Given the description of an element on the screen output the (x, y) to click on. 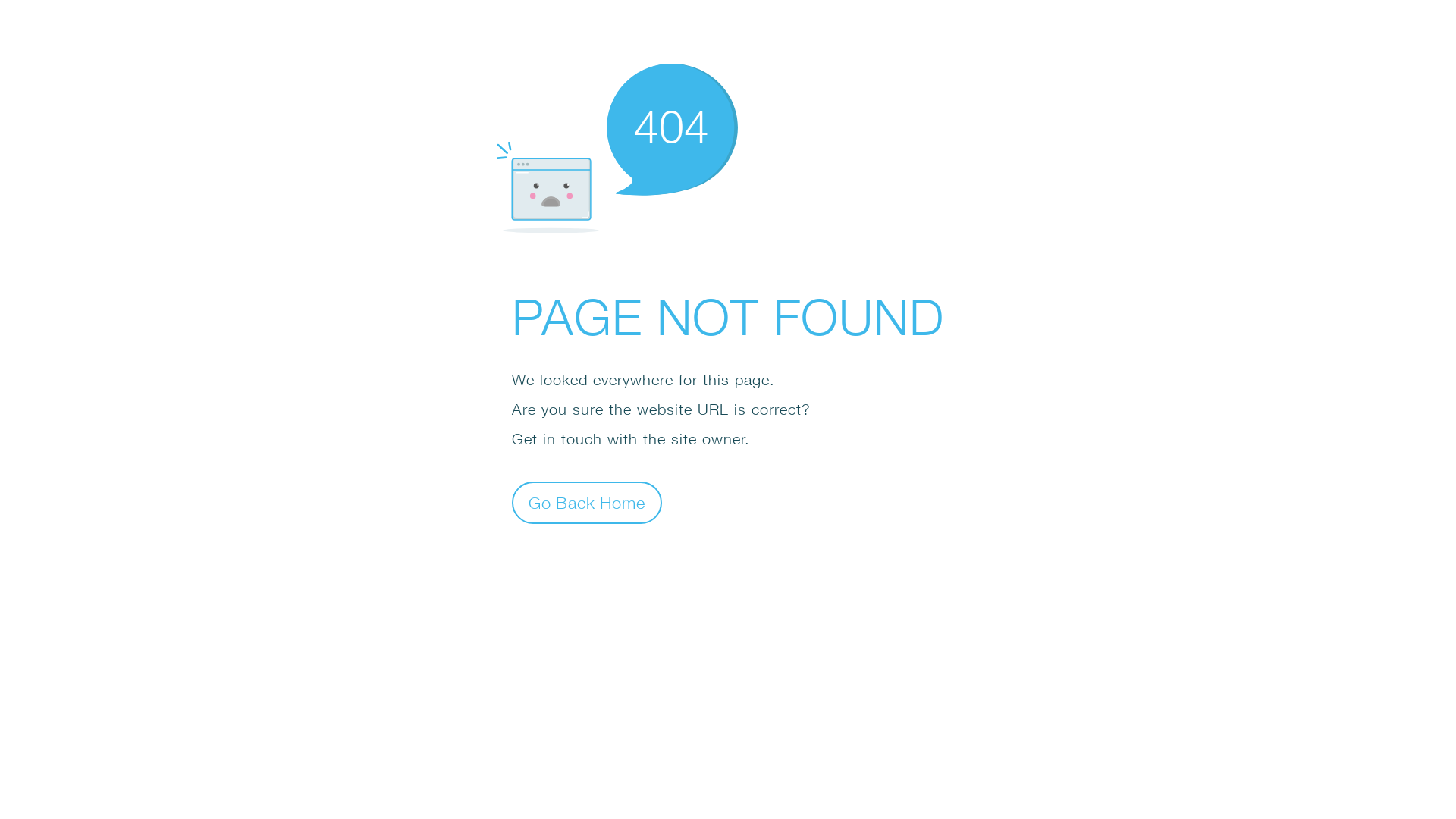
Go Back Home Element type: text (586, 502)
